Given the description of an element on the screen output the (x, y) to click on. 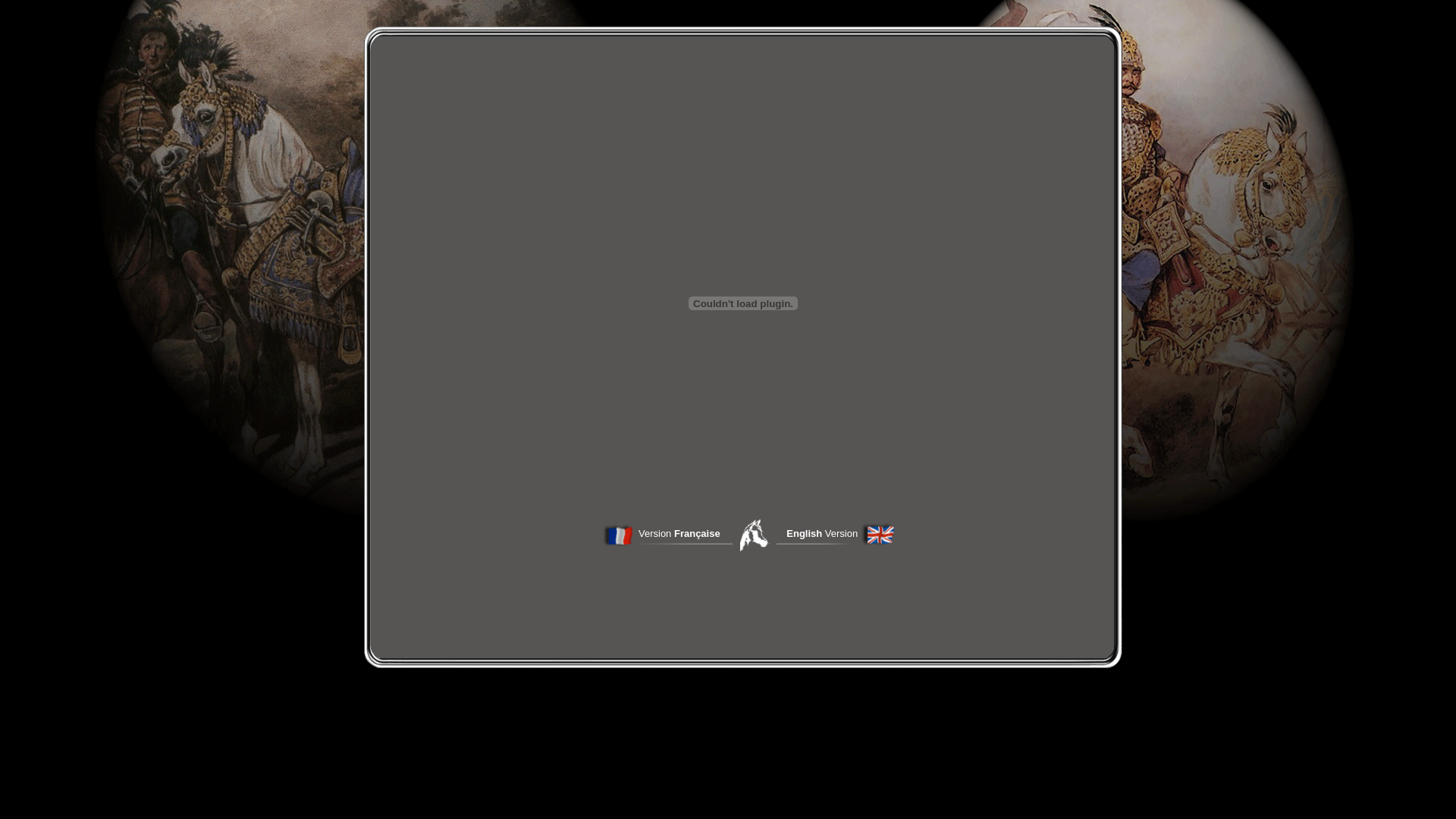
English Version Element type: text (821, 533)
